Given the description of an element on the screen output the (x, y) to click on. 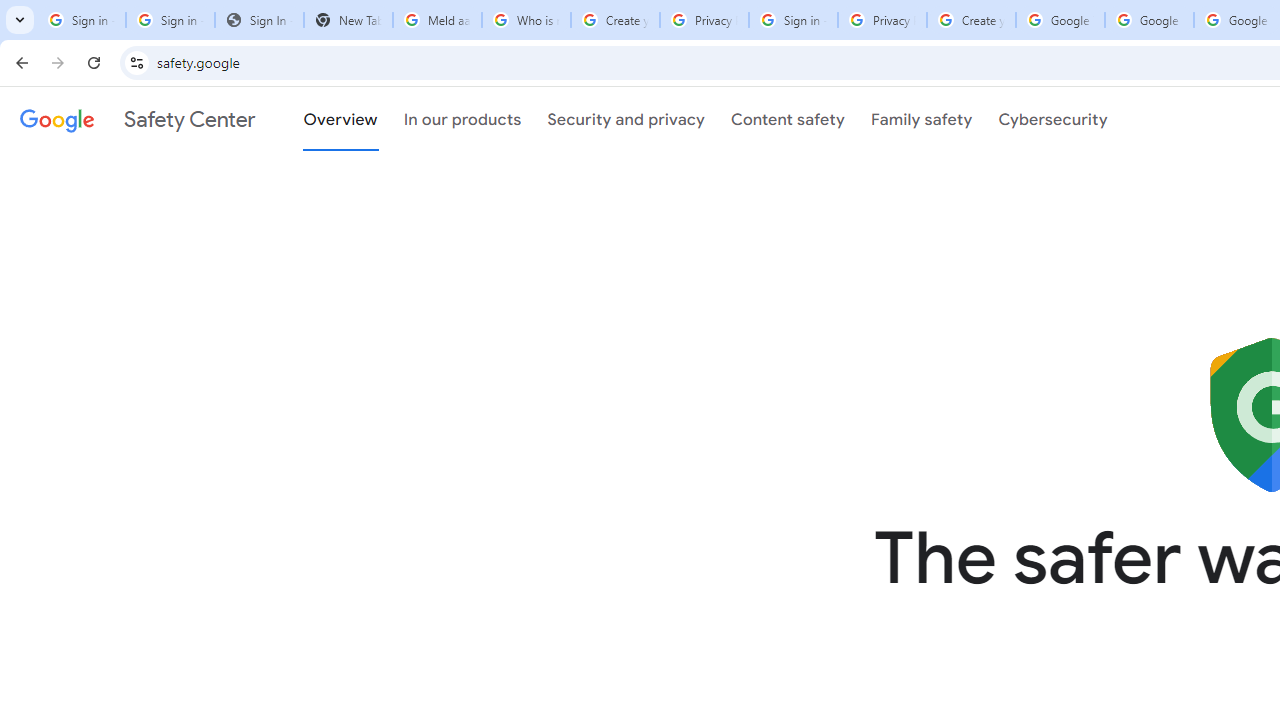
Sign in - Google Accounts (793, 20)
Sign in - Google Accounts (170, 20)
Cybersecurity (1053, 119)
Safety Center (137, 119)
Sign in - Google Accounts (81, 20)
Create your Google Account (971, 20)
